Given the description of an element on the screen output the (x, y) to click on. 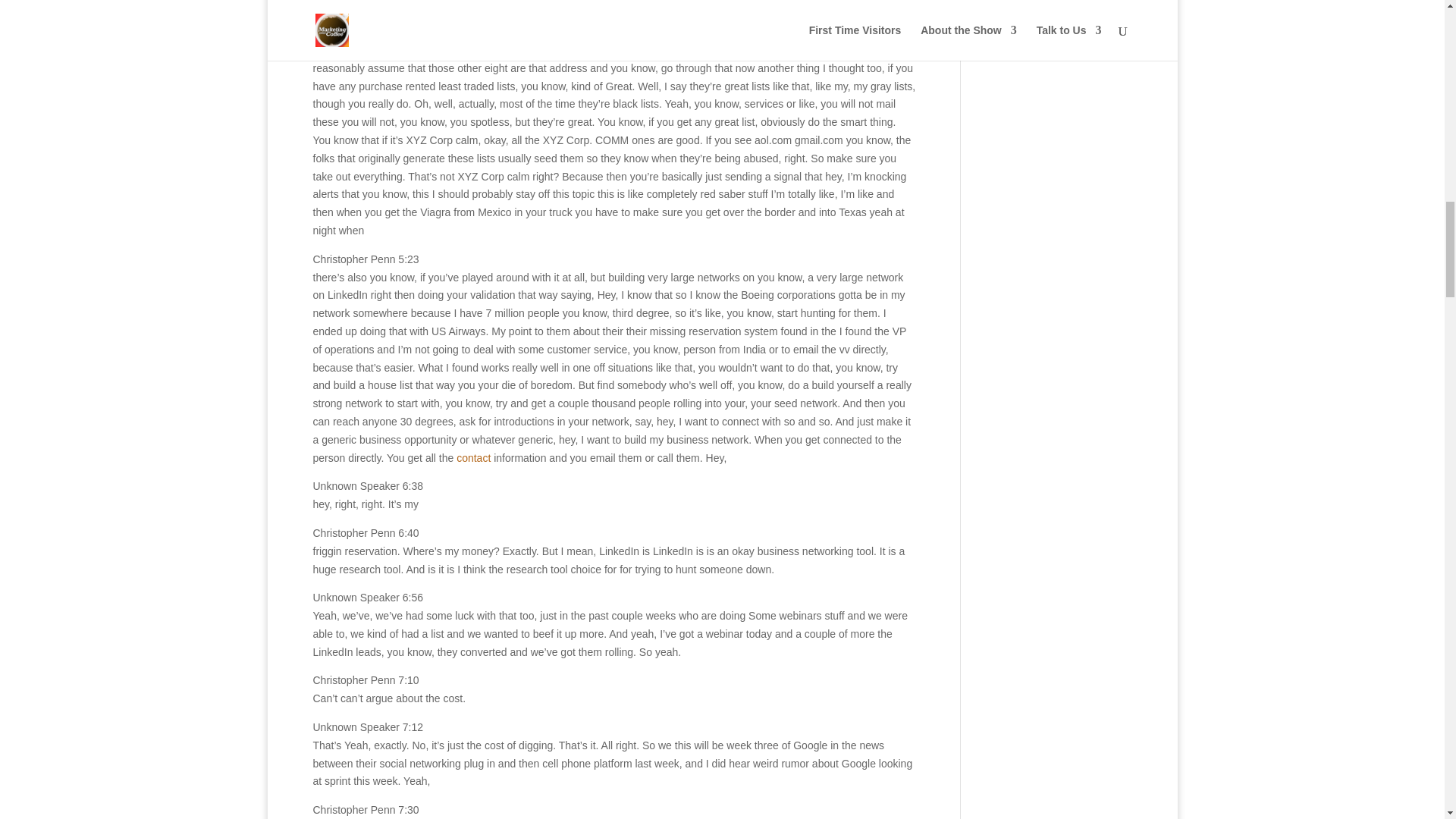
contact (473, 458)
